Given the description of an element on the screen output the (x, y) to click on. 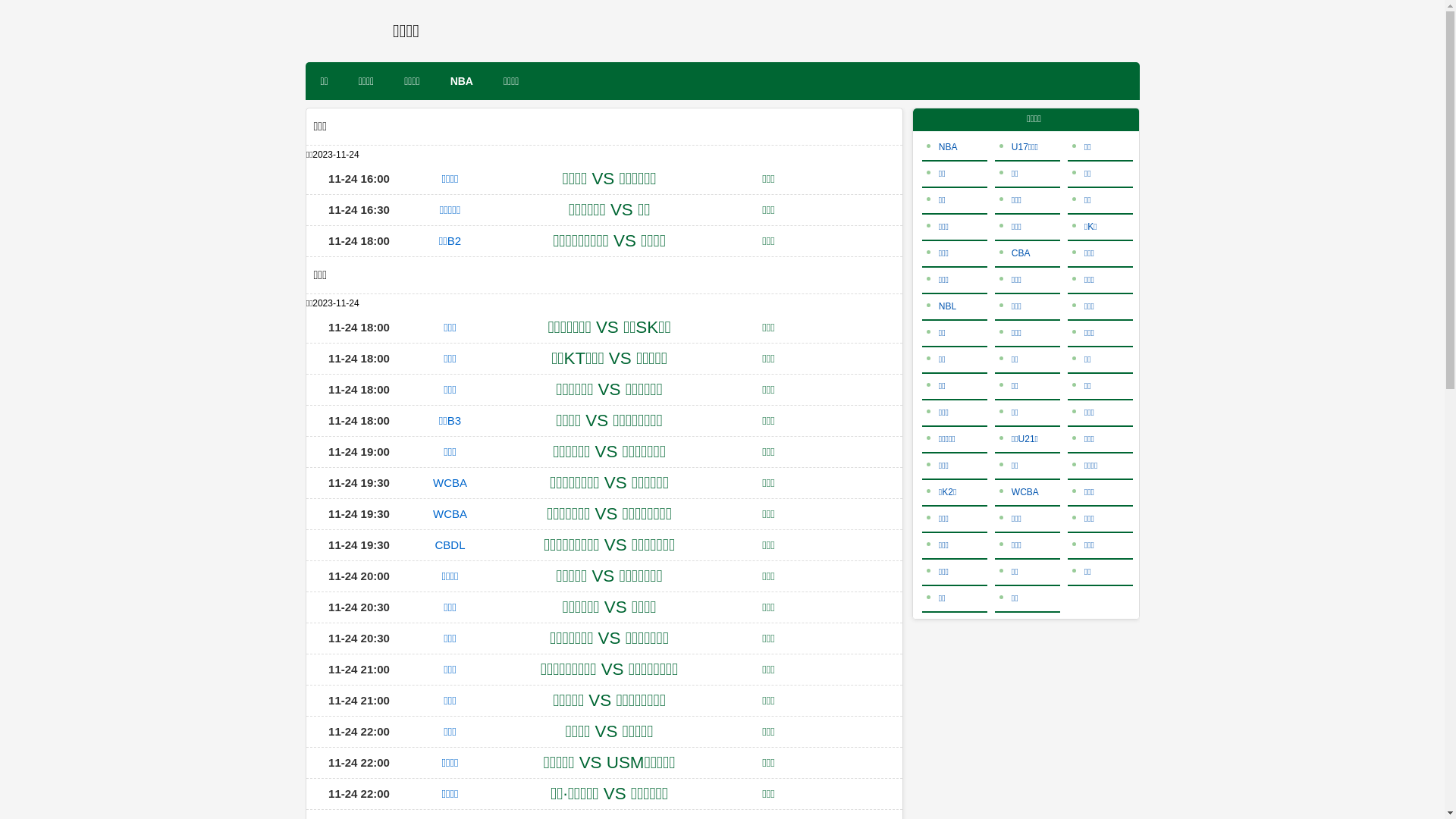
NBA Element type: text (461, 81)
WCBA Element type: text (1018, 491)
CBA Element type: text (1014, 252)
WCBA Element type: text (450, 482)
CBDL Element type: text (449, 544)
NBL Element type: text (941, 306)
WCBA Element type: text (450, 513)
NBA Element type: text (941, 146)
